Given the description of an element on the screen output the (x, y) to click on. 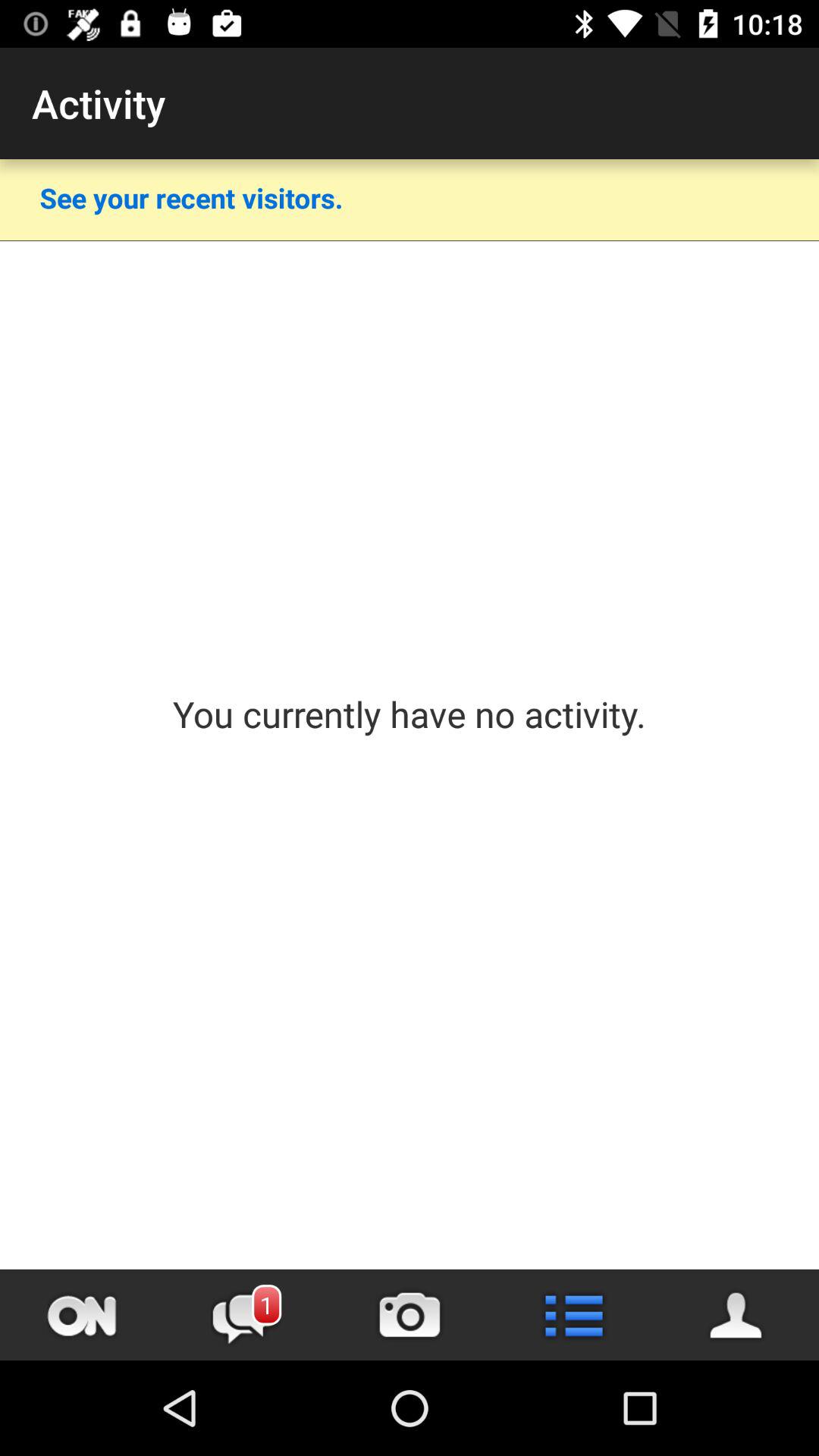
choose item below see your recent icon (409, 240)
